Given the description of an element on the screen output the (x, y) to click on. 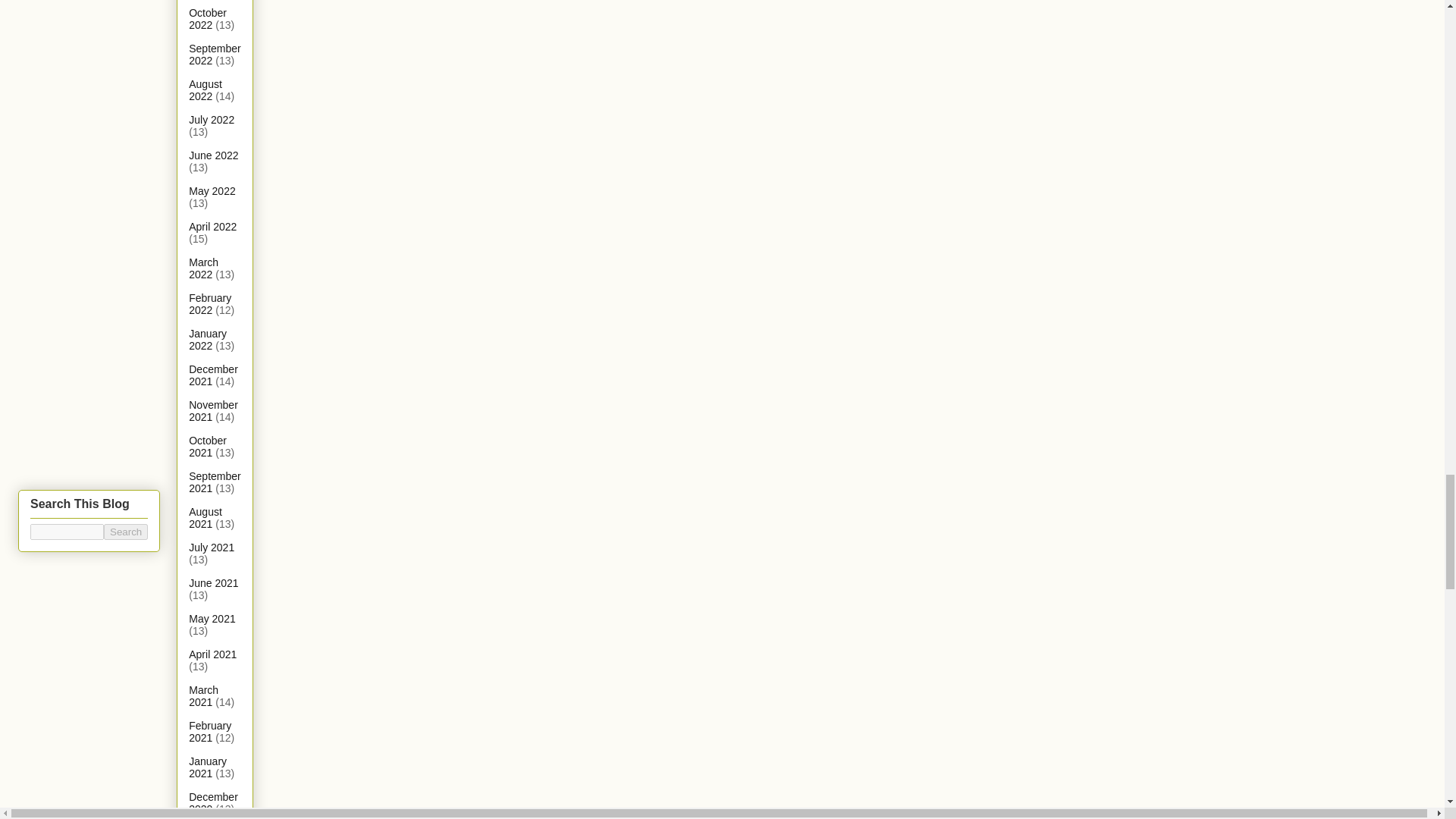
Search (125, 531)
search (66, 531)
search (125, 531)
Search (125, 531)
Search (125, 531)
